Given the description of an element on the screen output the (x, y) to click on. 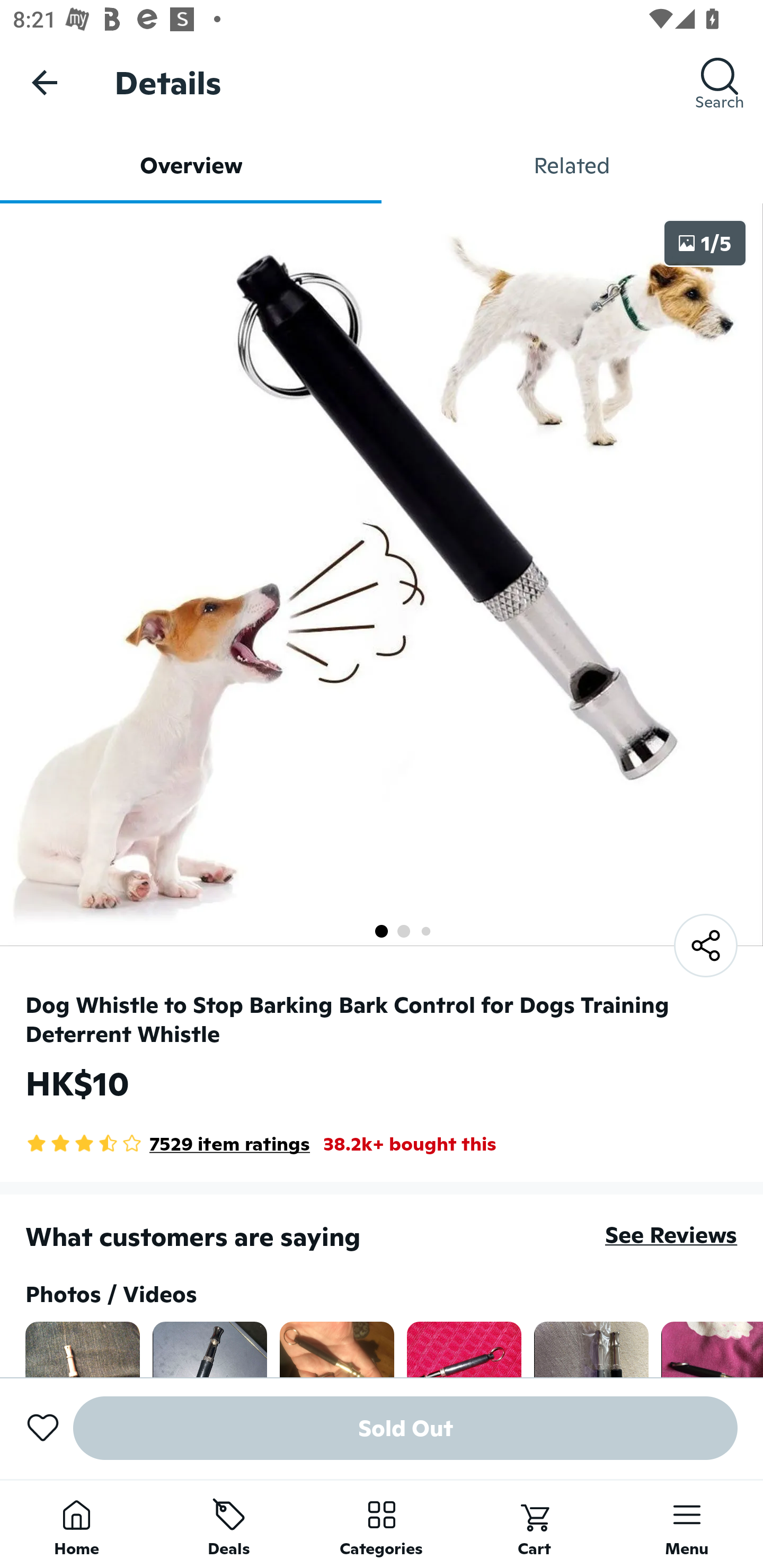
Navigate up (44, 82)
Search (719, 82)
Related (572, 165)
1/5 (705, 242)
3.6 Star Rating 7529 item ratings (167, 1143)
See Reviews (671, 1234)
Sold Out (405, 1428)
Home (76, 1523)
Deals (228, 1523)
Categories (381, 1523)
Cart (533, 1523)
Menu (686, 1523)
